Given the description of an element on the screen output the (x, y) to click on. 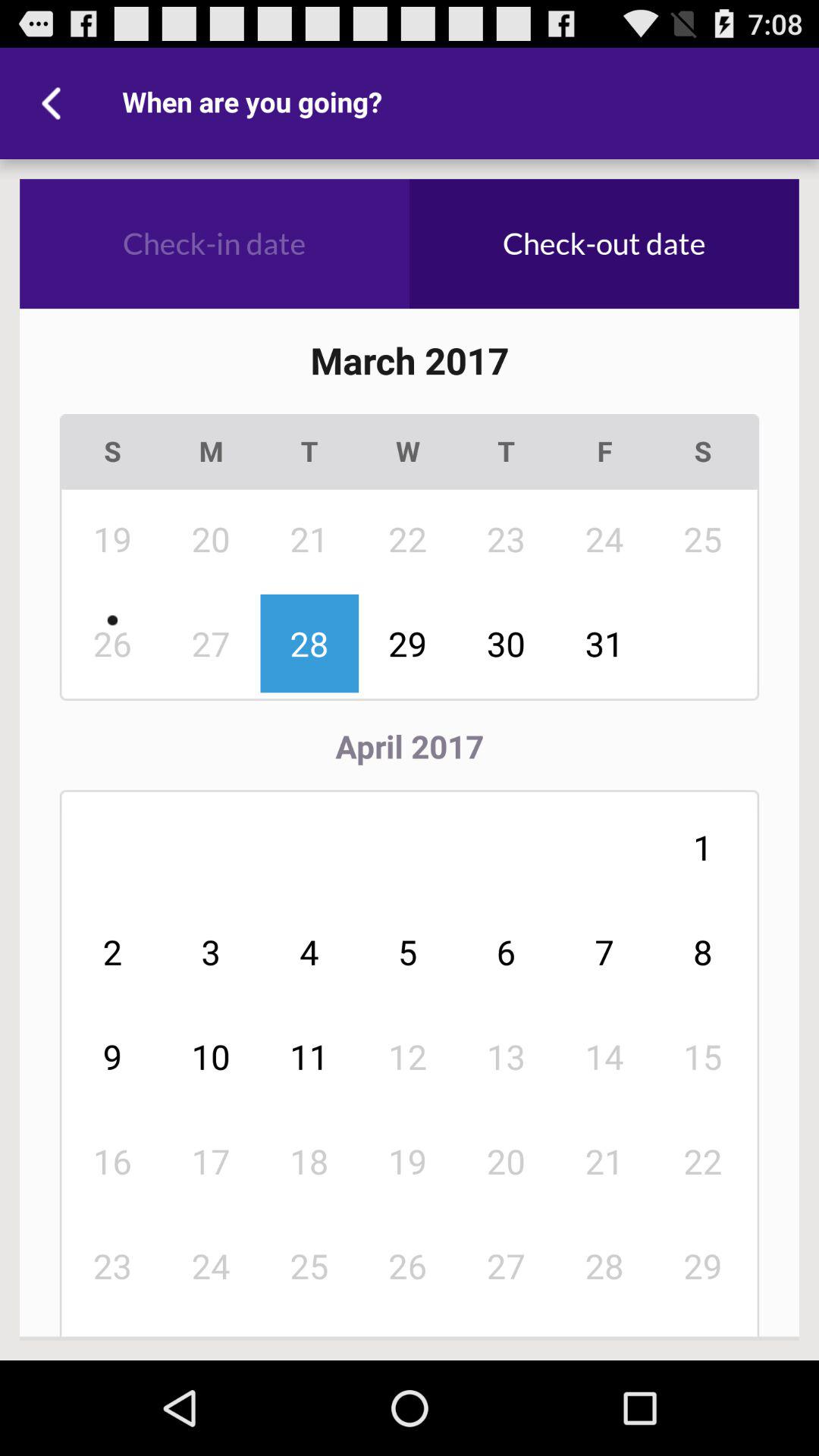
select the icon above the 19 item (211, 451)
